Given the description of an element on the screen output the (x, y) to click on. 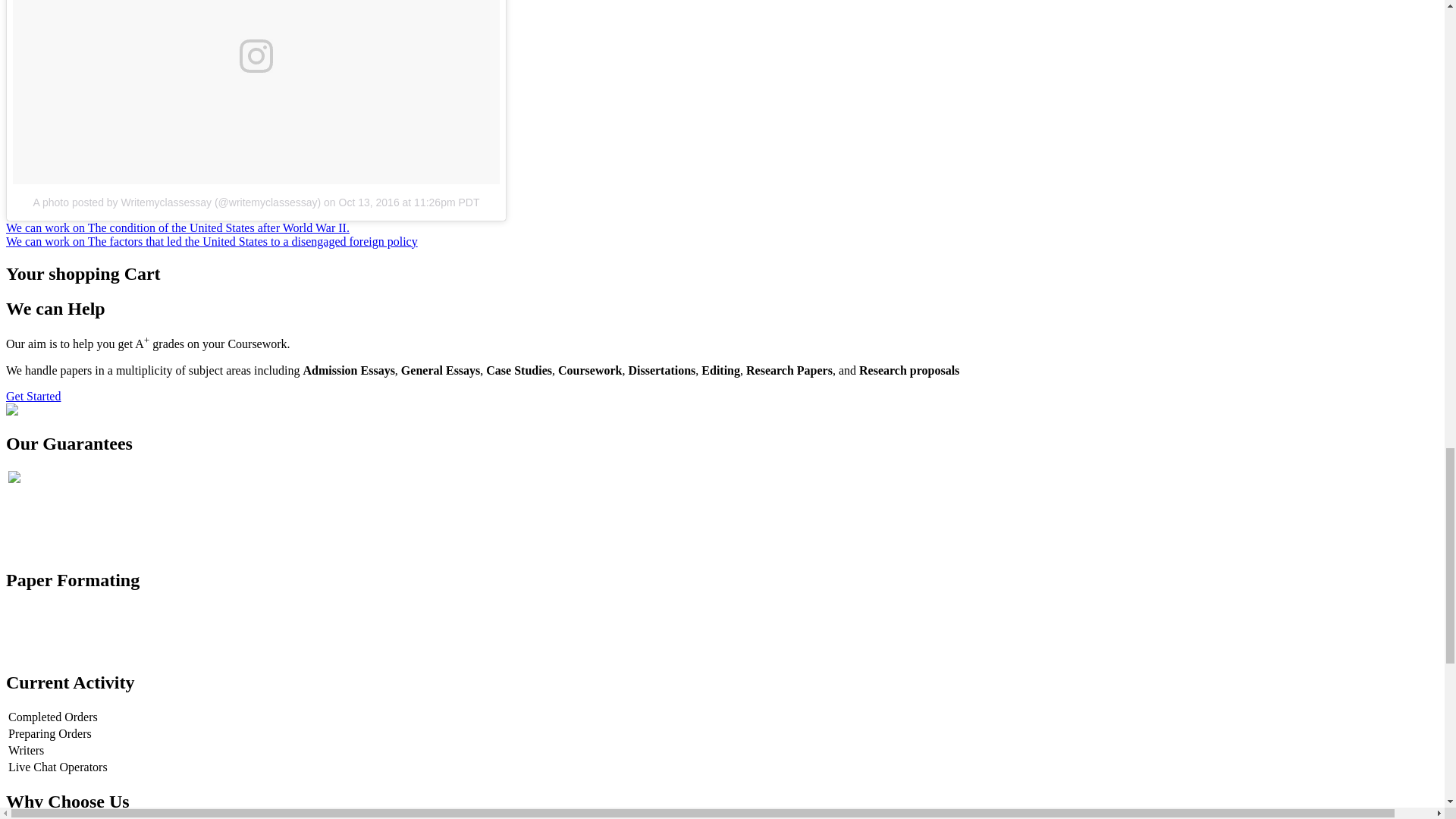
 Order our Custom Essay Writing service (11, 410)
